Given the description of an element on the screen output the (x, y) to click on. 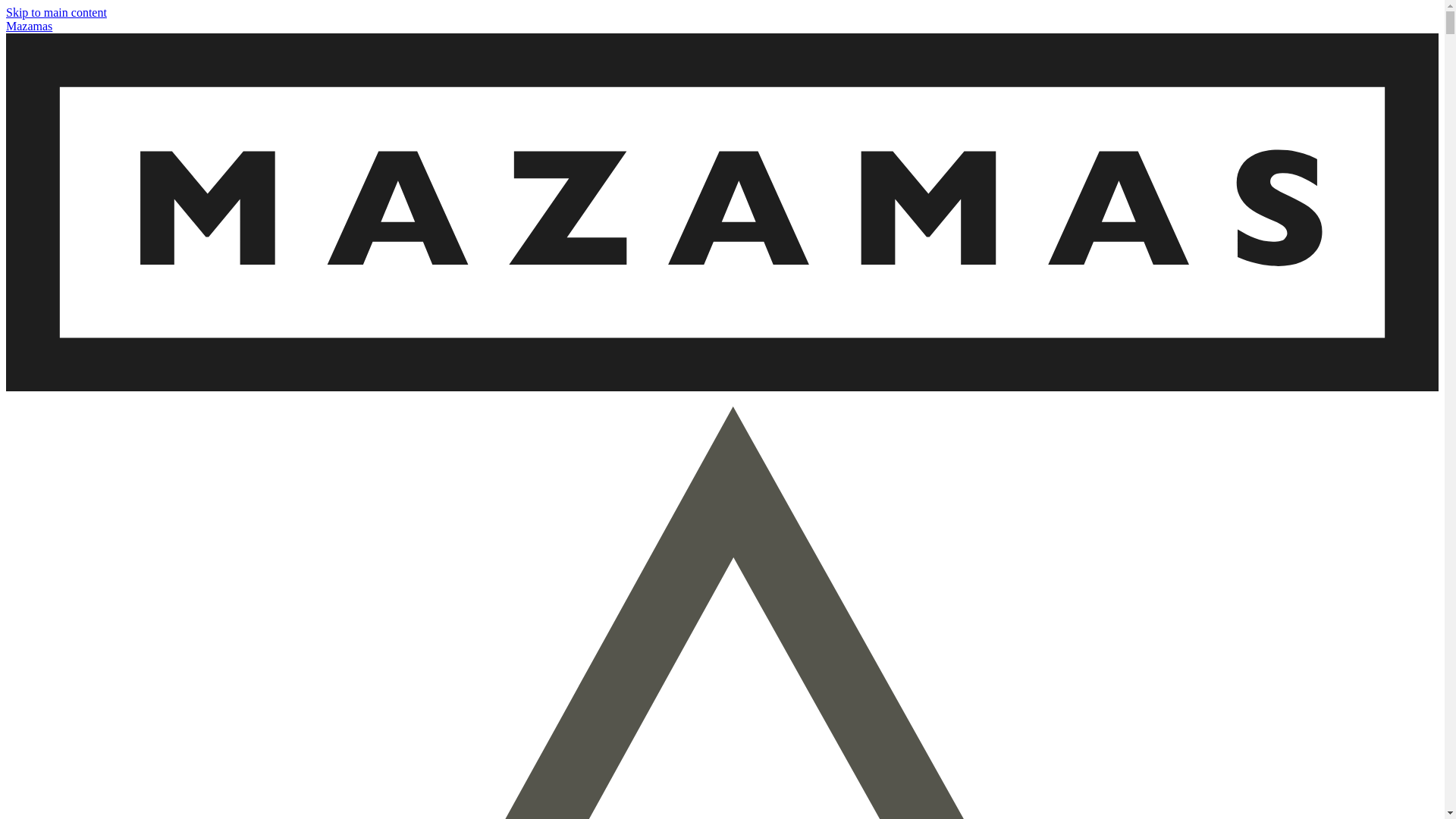
Skip to main content (55, 11)
